Given the description of an element on the screen output the (x, y) to click on. 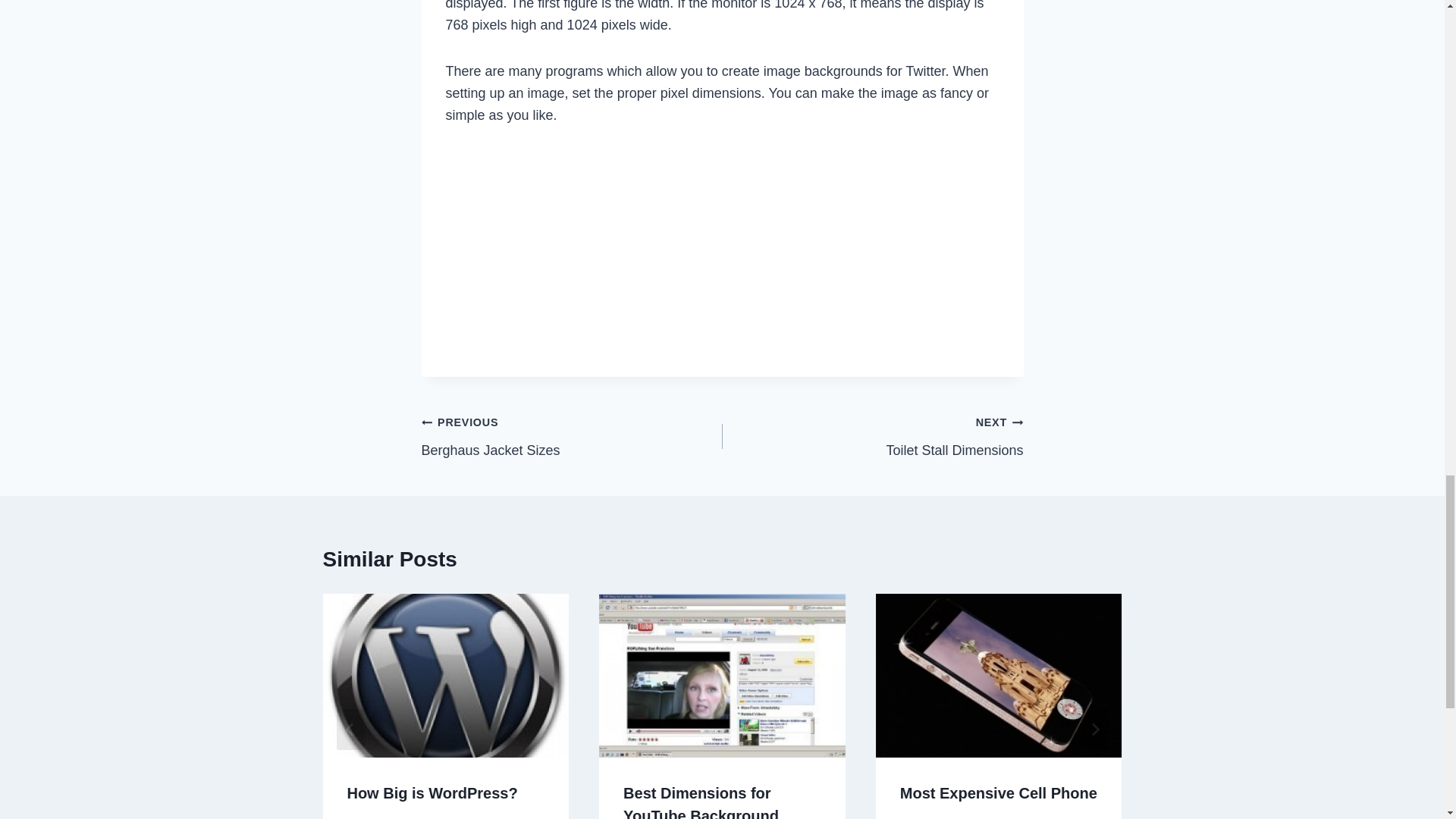
Advertisement (572, 436)
